Given the description of an element on the screen output the (x, y) to click on. 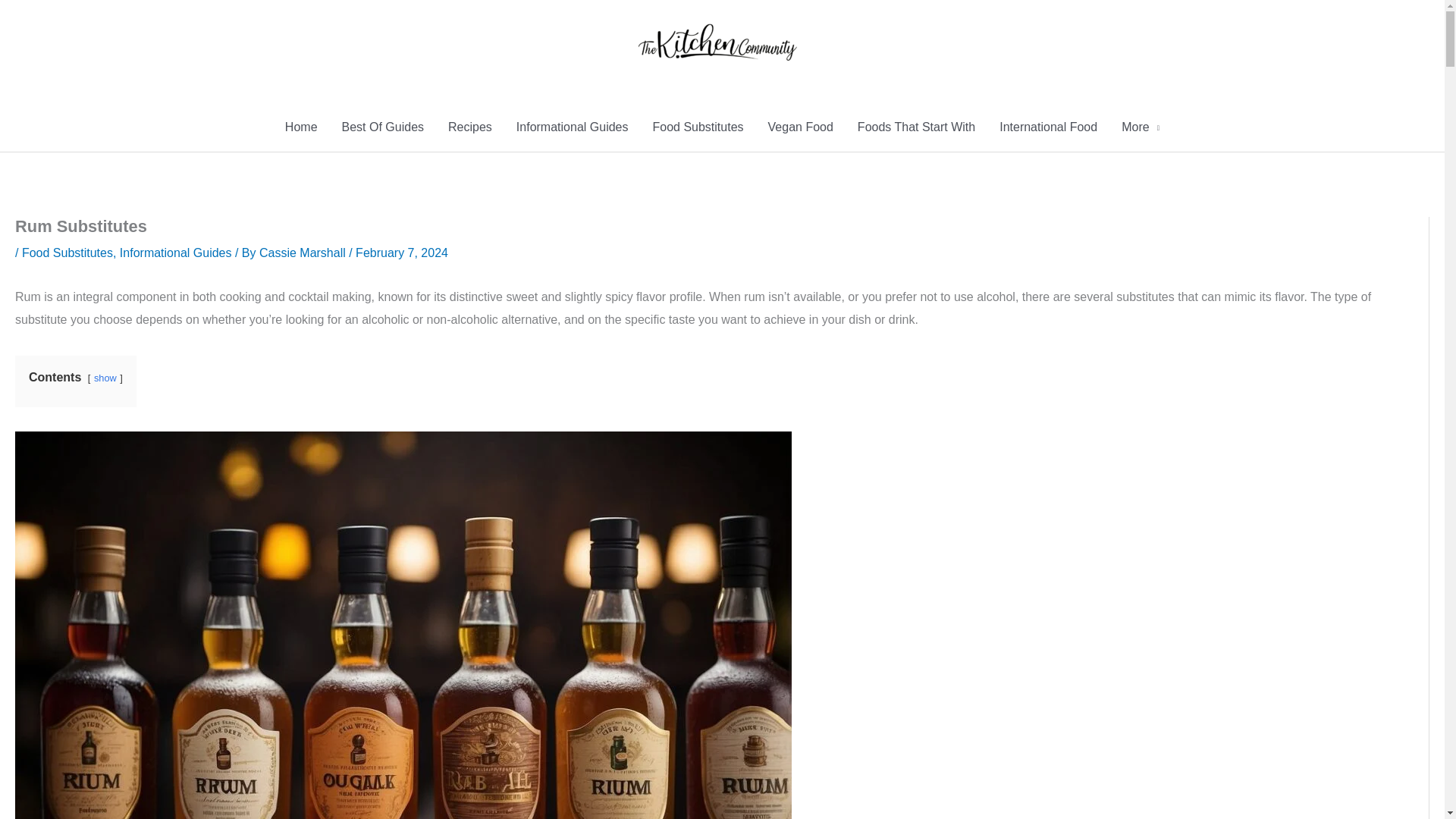
Informational Guides (571, 127)
Food Substitutes (697, 127)
Food Substitutes (67, 252)
Recipes (469, 127)
International Food (1048, 127)
Informational Guides (175, 252)
Cassie Marshall (304, 252)
Best Of Guides (383, 127)
View all posts by Cassie Marshall (304, 252)
Home (301, 127)
